Given the description of an element on the screen output the (x, y) to click on. 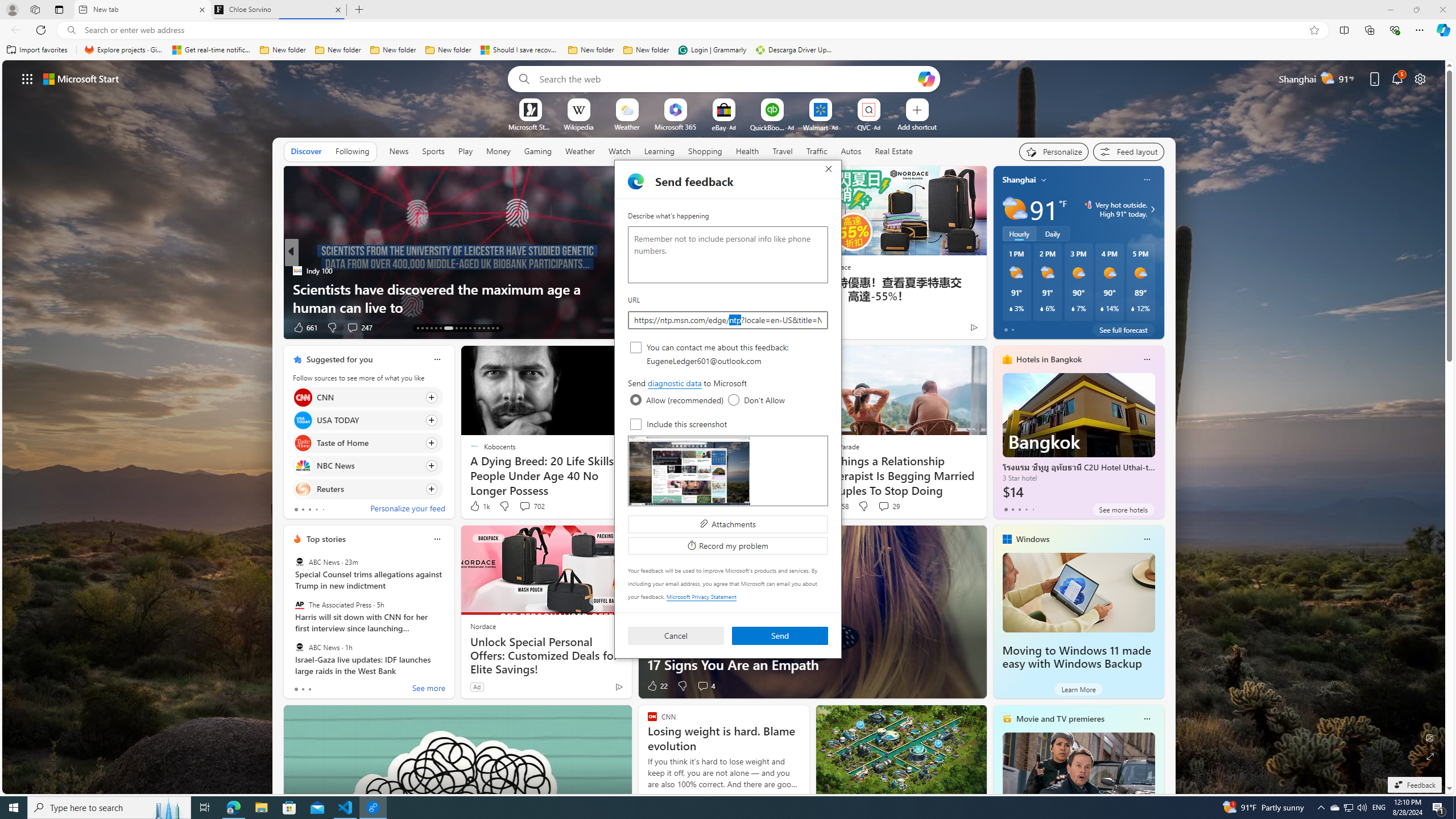
View comments 29 Comment (888, 505)
AutomationID: tab-40 (488, 328)
Class: weather-current-precipitation-glyph (1133, 308)
My location (1043, 179)
ABC News (299, 646)
Notifications (1397, 78)
Learning (658, 151)
Travel (782, 151)
Notification Chevron (1320, 807)
